Given the description of an element on the screen output the (x, y) to click on. 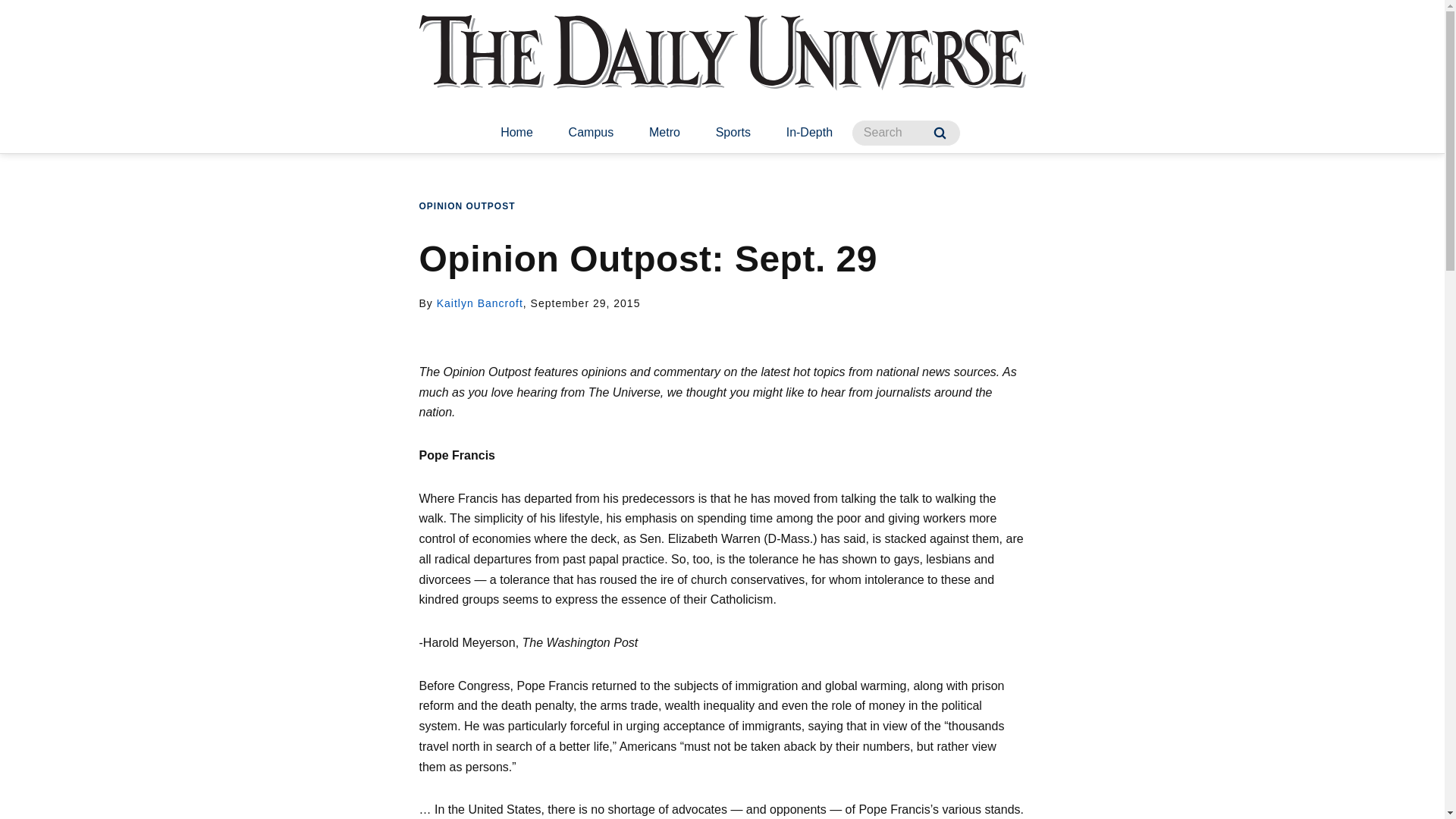
Campus (590, 133)
Kaitlyn Bancroft (479, 303)
Metro (664, 133)
Home (516, 133)
OPINION OUTPOST (467, 206)
Sports (732, 133)
Search (939, 132)
In-Depth (809, 133)
